Given the description of an element on the screen output the (x, y) to click on. 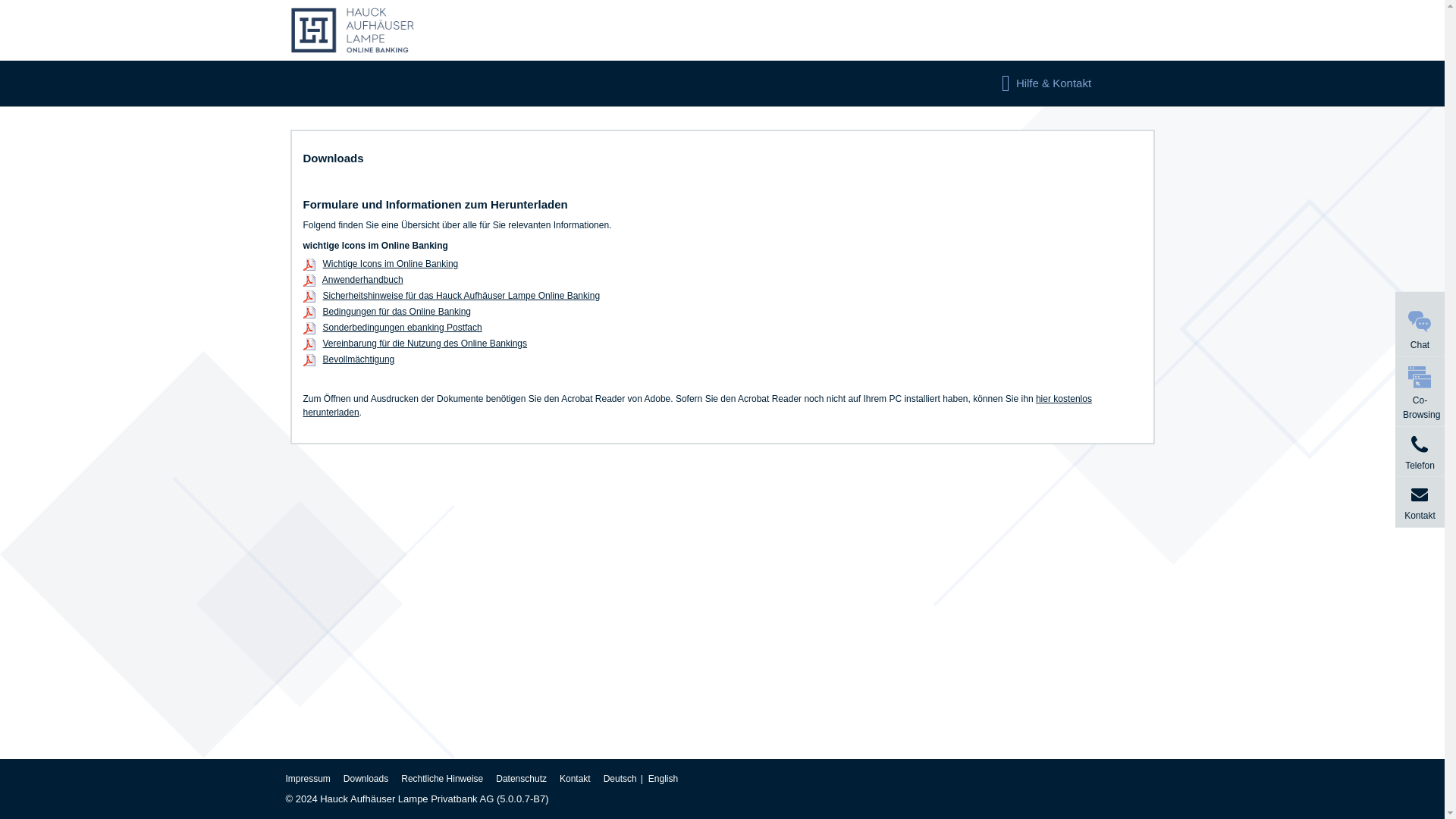
Anwenderhandbuch (362, 279)
Kontakt (575, 777)
PDF (308, 280)
English (663, 777)
Impressum (308, 777)
hier kostenlos herunterladen (697, 405)
PDF (308, 328)
Deutsch (625, 777)
Rechtliche Hinweise (442, 777)
PDF (308, 296)
Sonderbedingungen ebanking Postfach (402, 327)
PDF (308, 312)
Downloads (366, 777)
Logo (352, 30)
Datenschutz (522, 777)
